Given the description of an element on the screen output the (x, y) to click on. 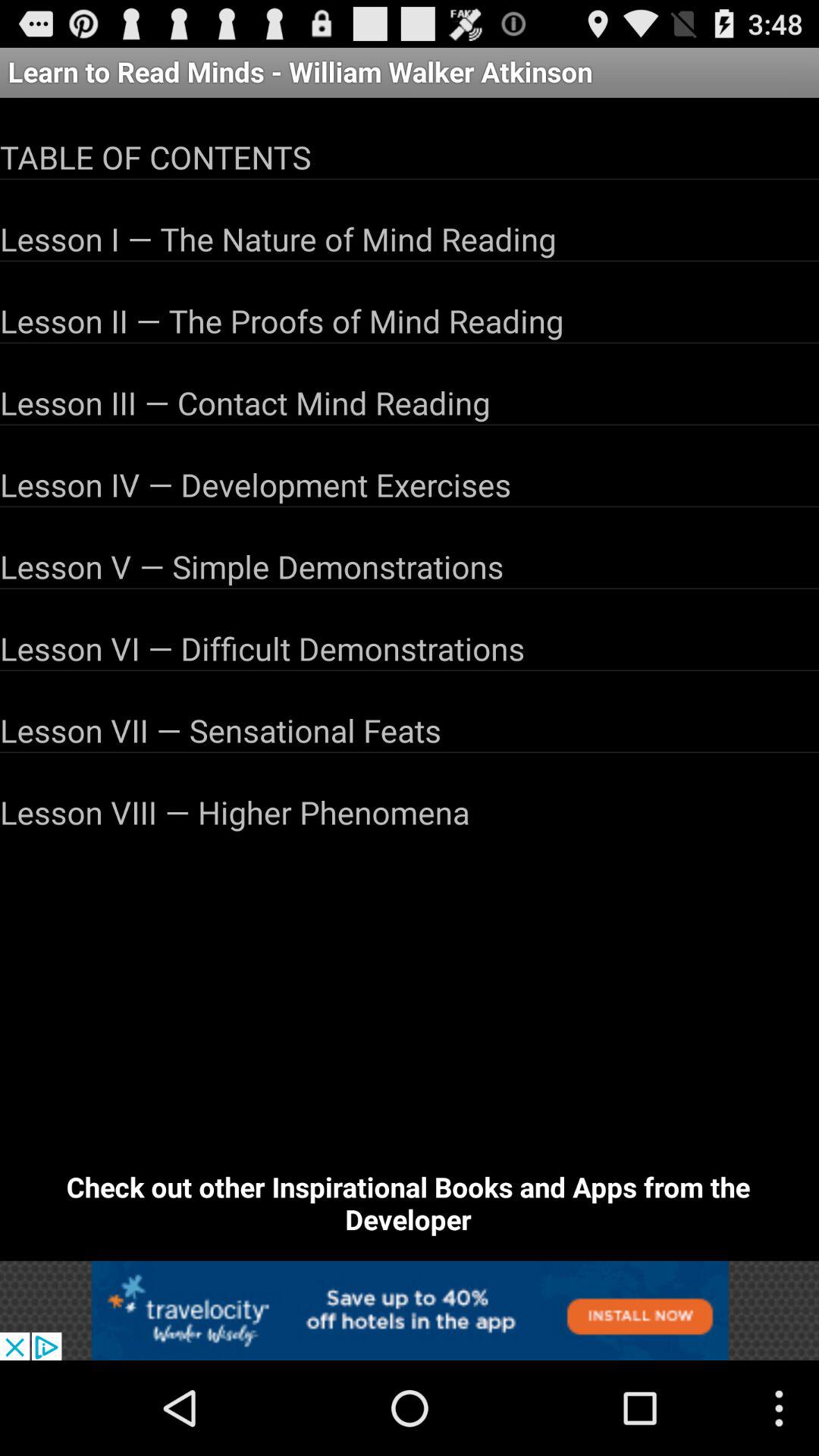
open advertisement (409, 1310)
